Given the description of an element on the screen output the (x, y) to click on. 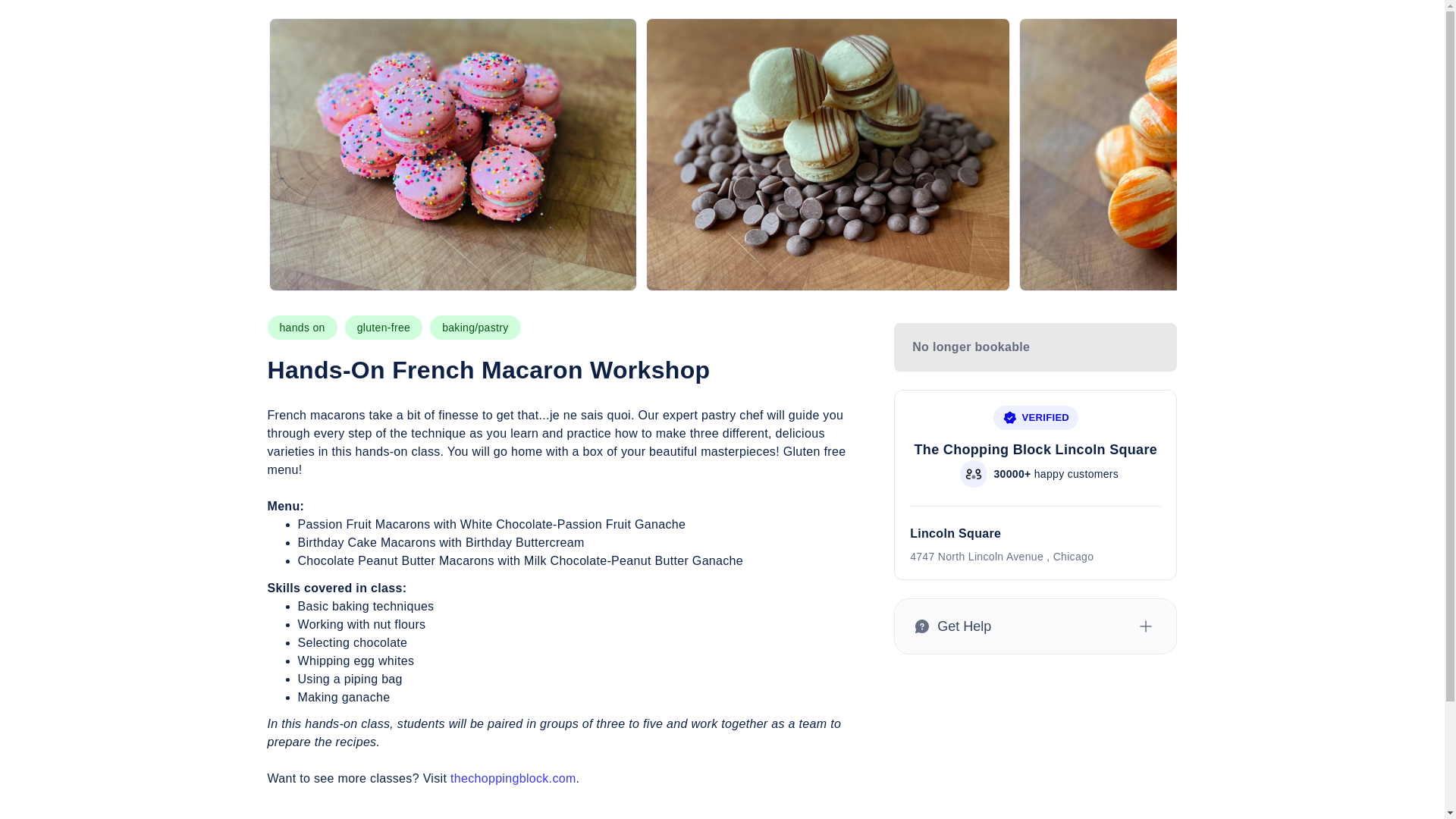
thechoppingblock.com (512, 778)
Get Help (1035, 625)
